Given the description of an element on the screen output the (x, y) to click on. 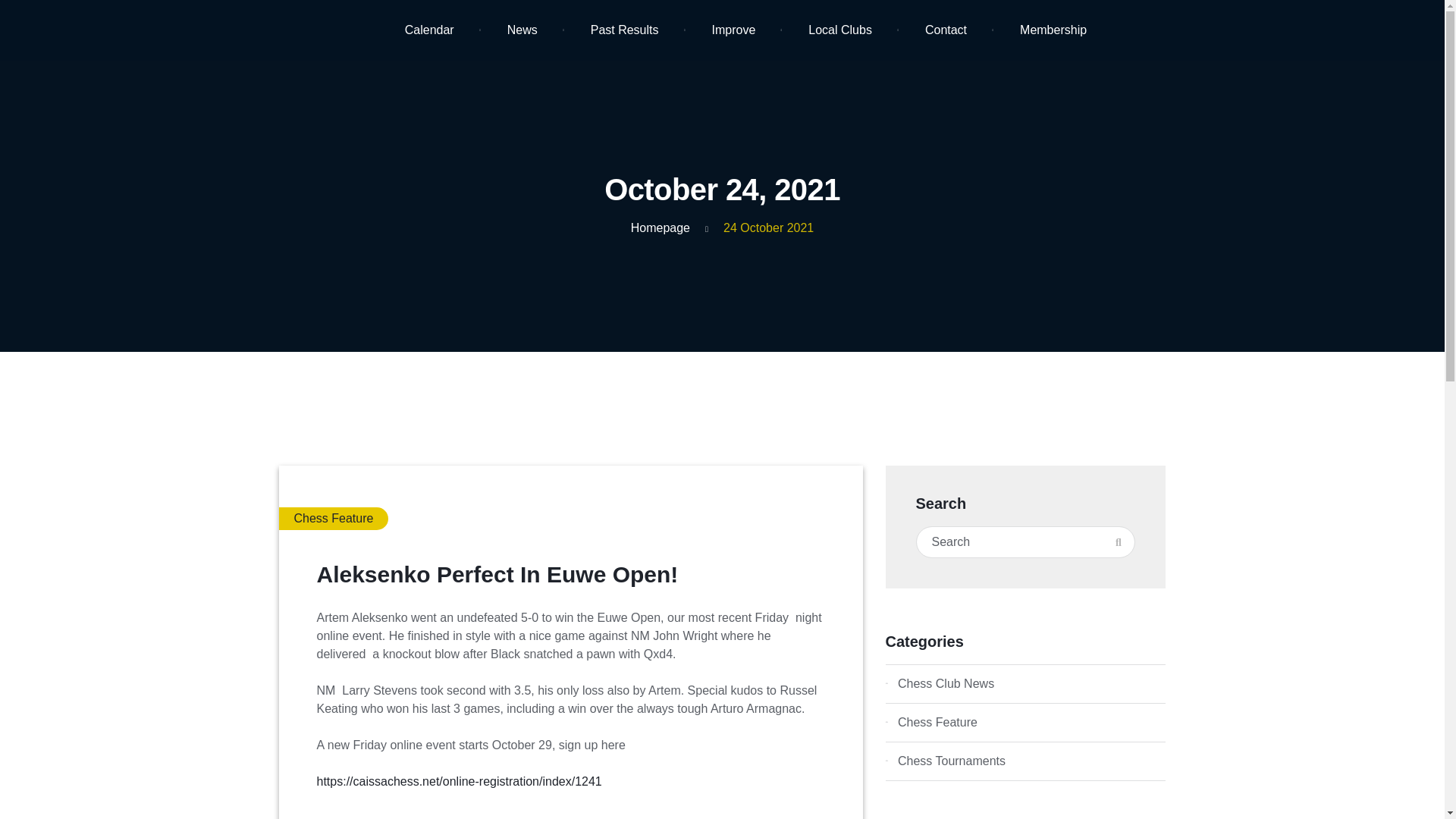
Search for: (1025, 541)
Homepage (660, 227)
Search (1118, 541)
Local Clubs (840, 30)
Membership (1053, 30)
Aleksenko Perfect In Euwe Open! (497, 574)
Chess Tournaments (1025, 761)
Calendar (429, 30)
Chess Feature (333, 517)
Past Results (625, 30)
